Given the description of an element on the screen output the (x, y) to click on. 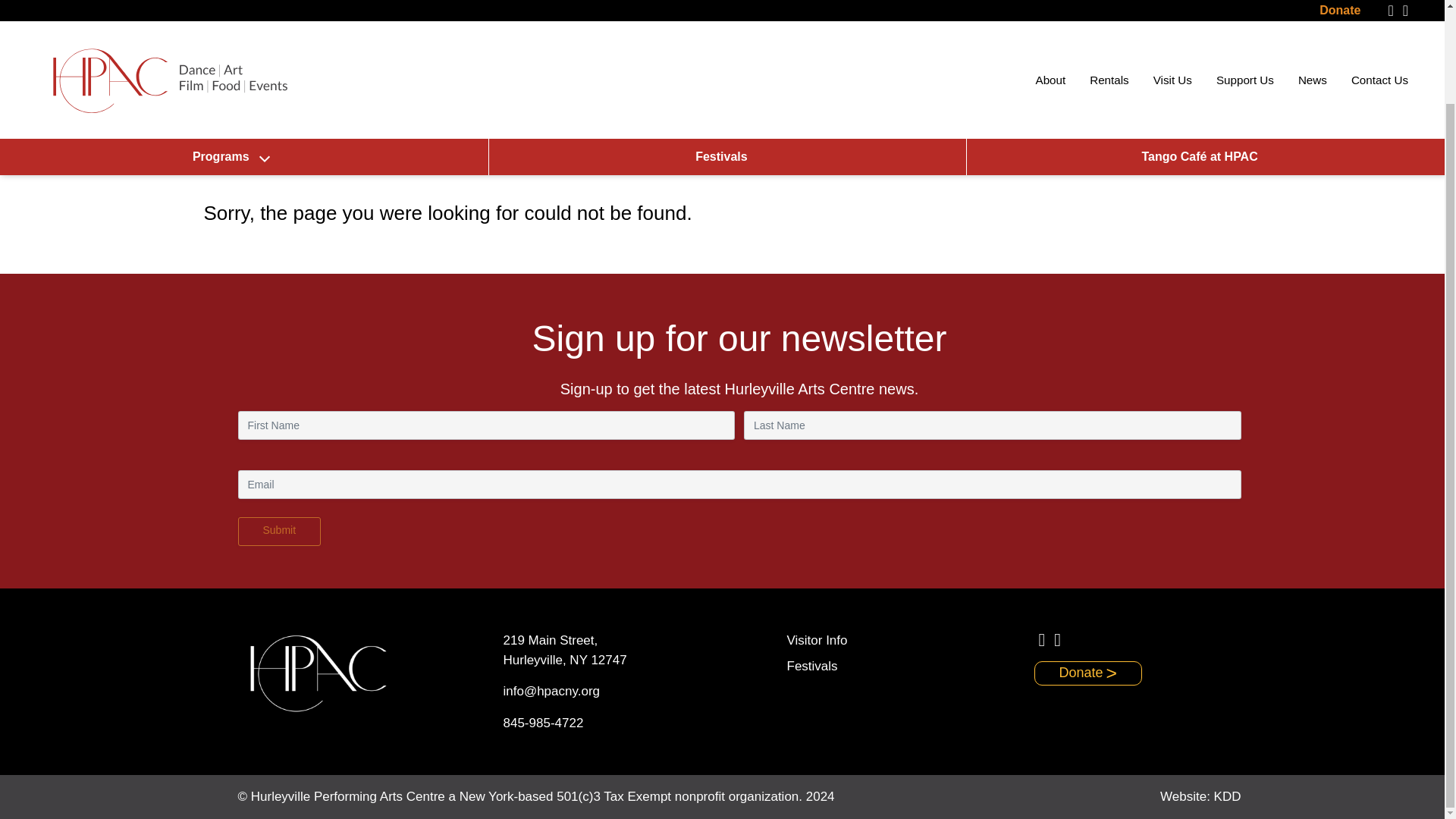
Programs (230, 47)
Submit (279, 531)
Hurleyville Performing Arts Centre (168, 9)
